Given the description of an element on the screen output the (x, y) to click on. 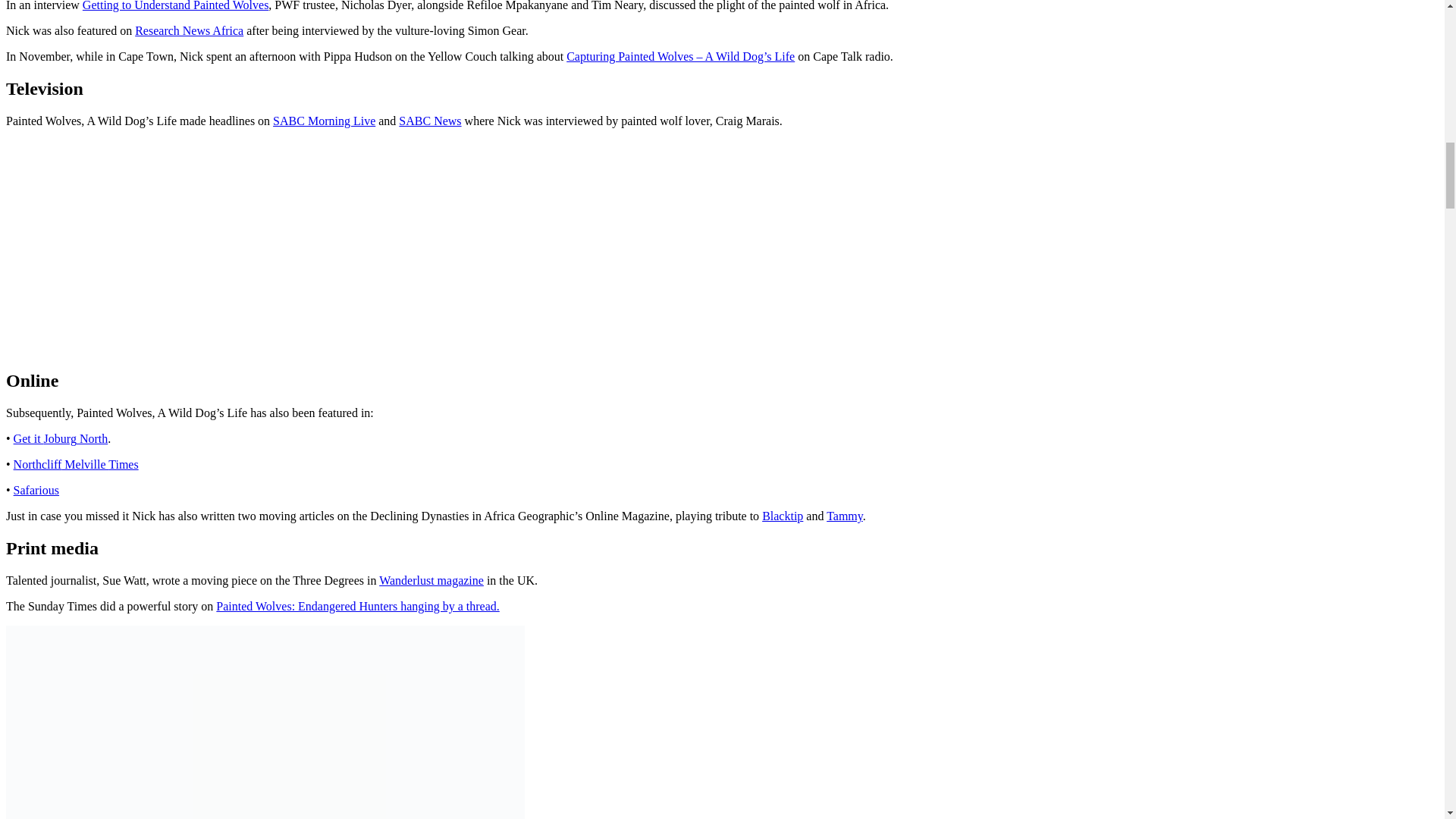
The Painted Wolf is Africa's most persecuted predator (195, 245)
